Given the description of an element on the screen output the (x, y) to click on. 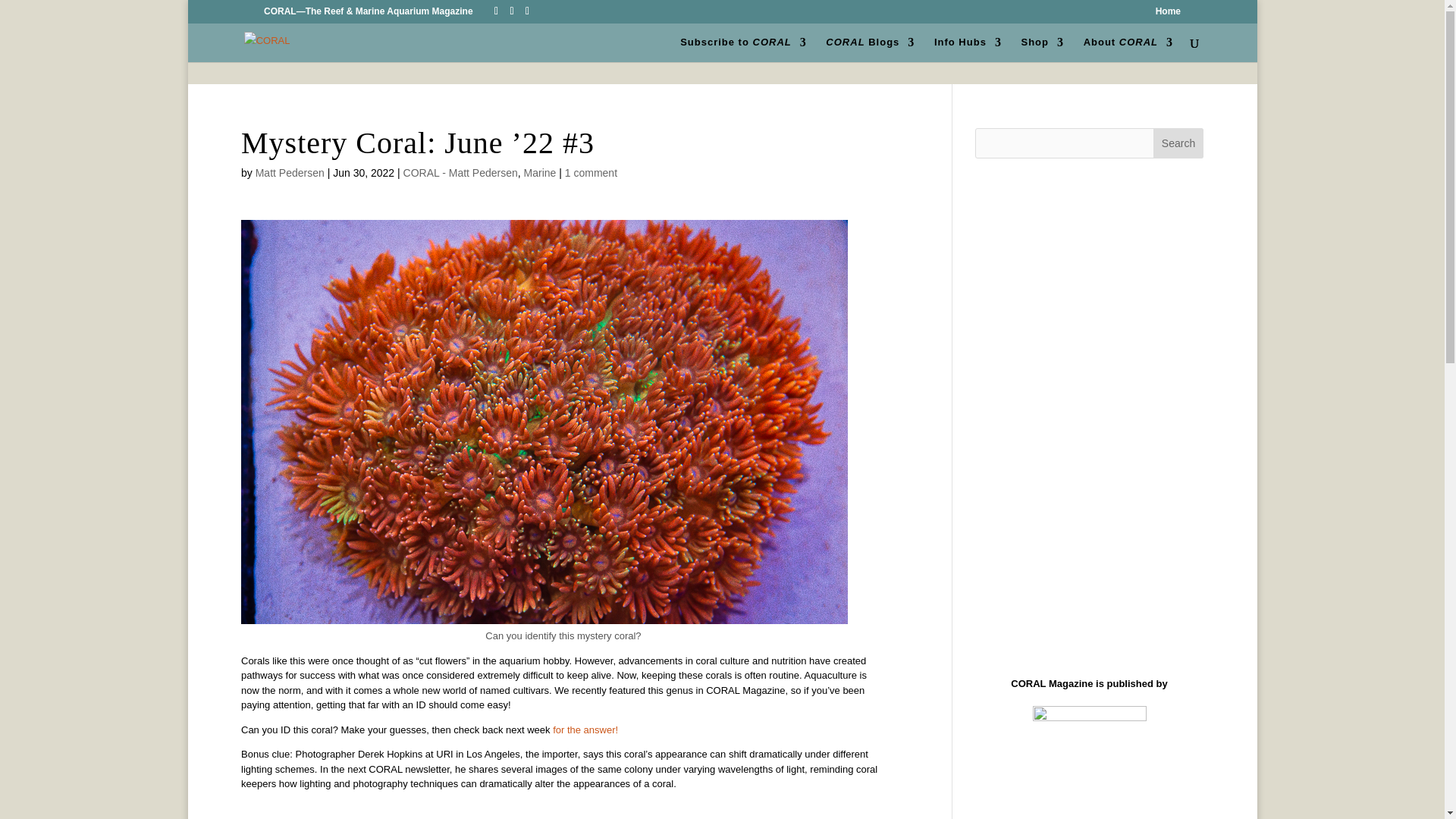
Subscribe to CORAL Magazine (742, 49)
Home (1168, 14)
Info Hubs (967, 49)
Subscribe to CORAL (742, 49)
CORAL Blogs (869, 49)
